Given the description of an element on the screen output the (x, y) to click on. 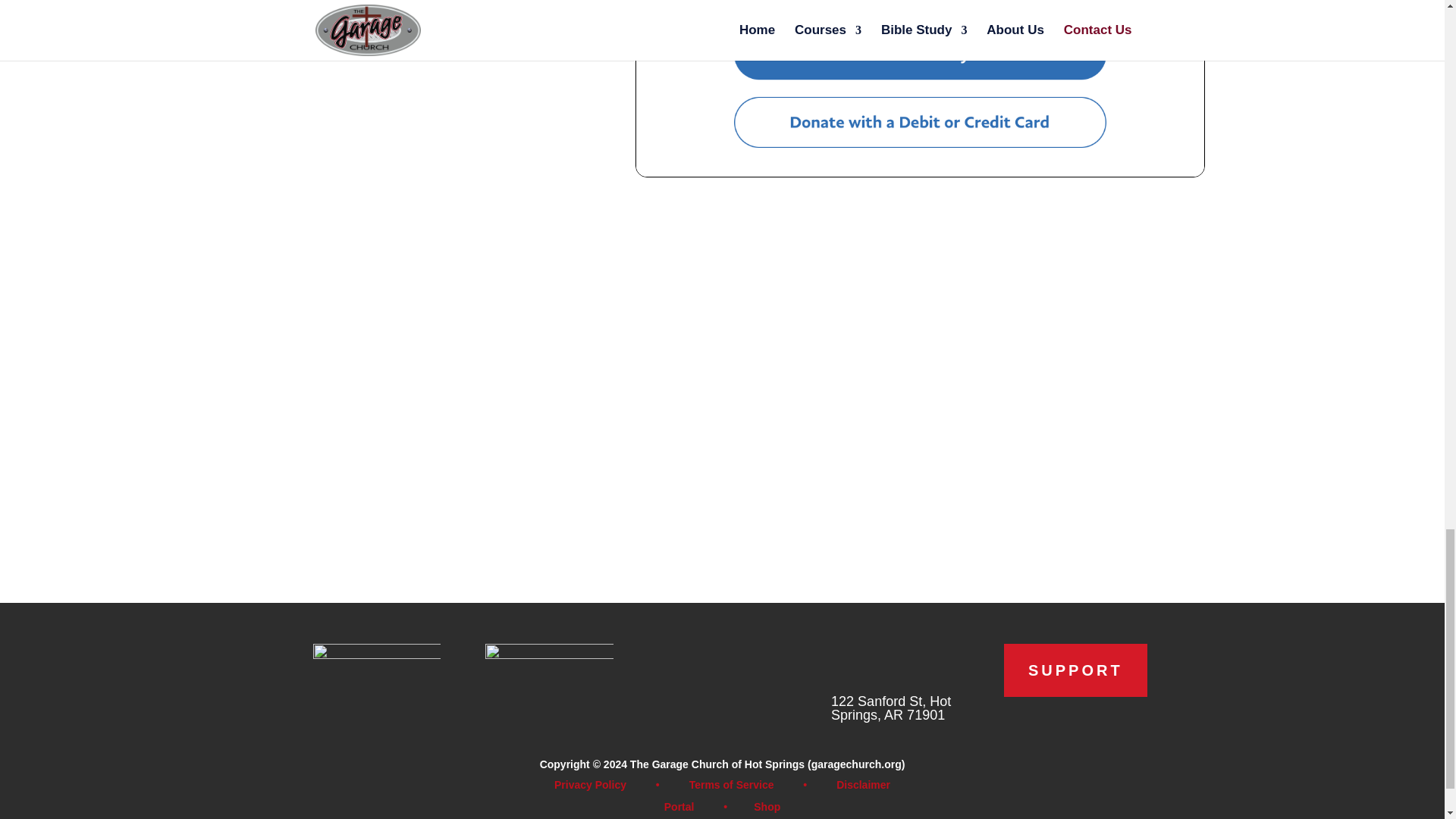
Portal (678, 806)
122 Sanford St, Hot Springs, AR 71901 (890, 707)
Shop (767, 806)
Privacy Policy (590, 784)
Disclaimer (862, 784)
1 (376, 675)
Terms of Service (731, 784)
Give to Garage Church in Hot Spirngs Arkansas (920, 88)
GIVE ONLINE (403, 14)
2 (548, 675)
SUPPORT (1075, 669)
